Given the description of an element on the screen output the (x, y) to click on. 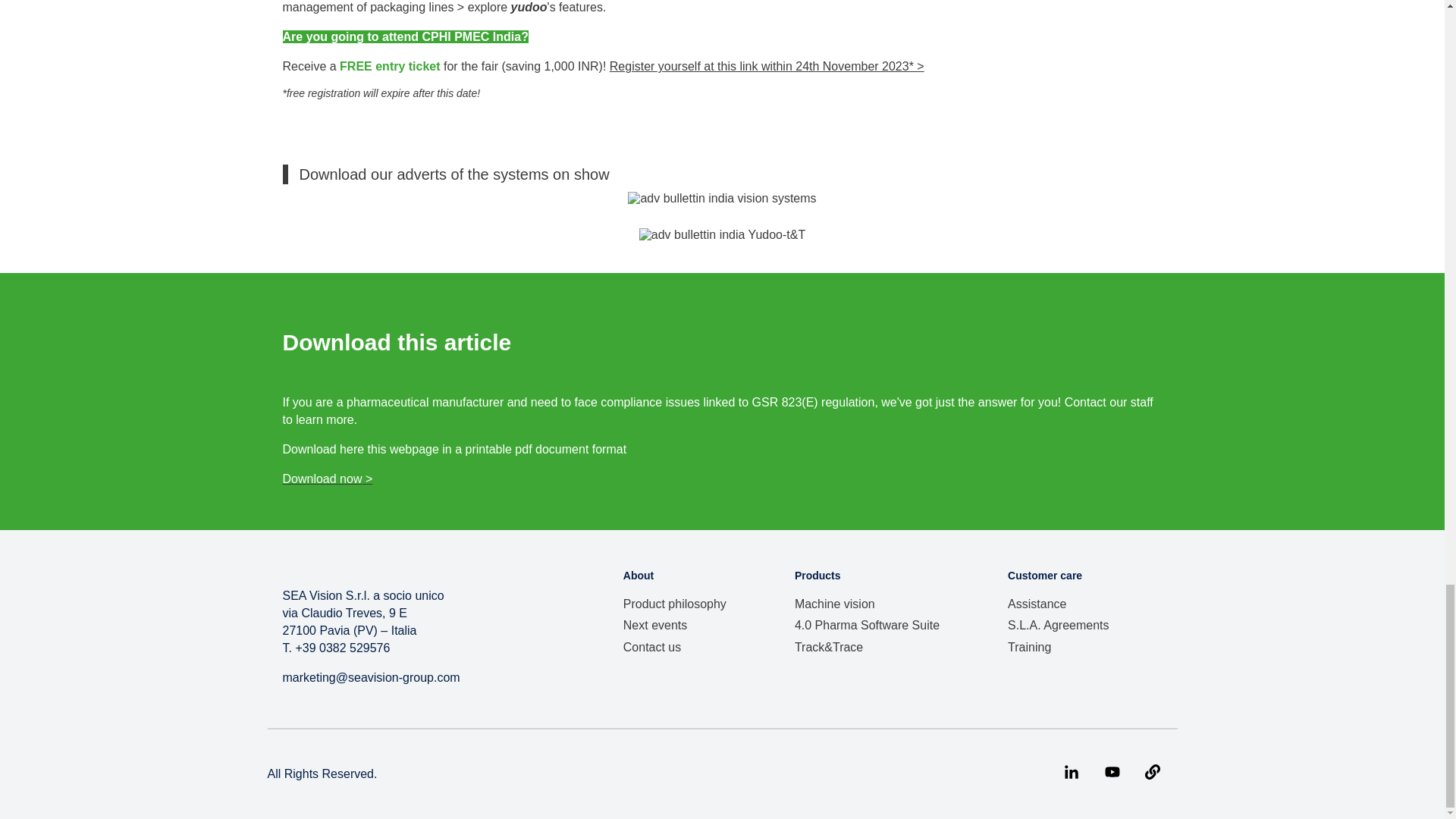
Assistance (1036, 603)
S.L.A. Agreements (1057, 625)
yudoo (529, 6)
Next events (655, 625)
Machine vision (834, 603)
Training (1029, 646)
4.0 Pharma Software Suite (866, 625)
Product philosophy (674, 603)
adv bullettin india vision systems (721, 198)
Contact us (652, 646)
